Given the description of an element on the screen output the (x, y) to click on. 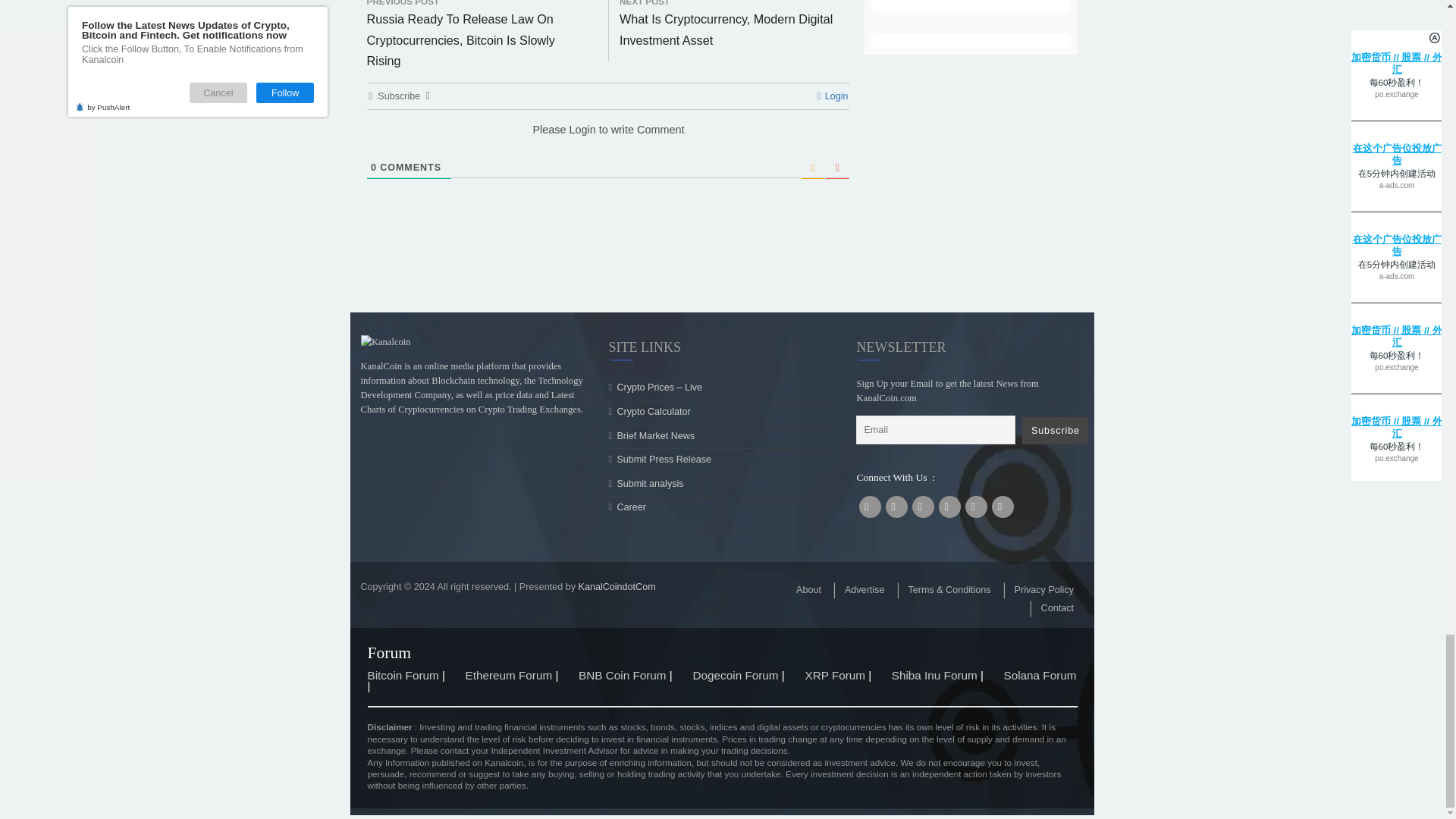
Tweet this ! (463, 174)
Subscribe (1172, 805)
Telegram (572, 174)
Add this to LinkedIn (499, 174)
Share this on Facebook (427, 174)
Yes, I'm Subscribed (1078, 39)
WhatsApp (536, 174)
Submit this to Reddit (609, 174)
